Given the description of an element on the screen output the (x, y) to click on. 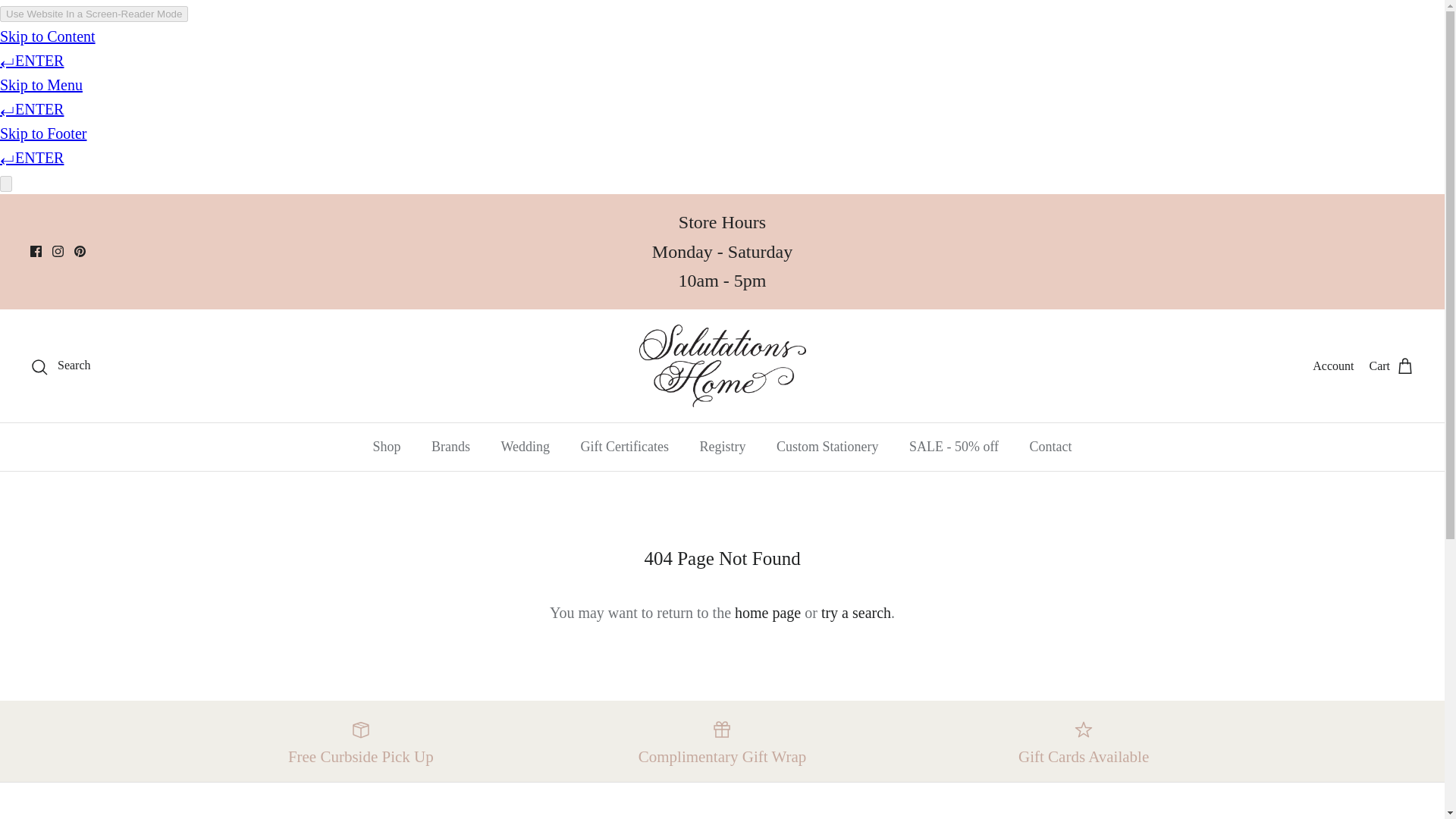
Pinterest (79, 251)
Cart (1390, 364)
Pinterest (79, 251)
Shop (385, 446)
Search (60, 365)
Instagram (58, 251)
Instagram (58, 251)
Facebook (36, 251)
Facebook (36, 251)
Account (1333, 365)
